Given the description of an element on the screen output the (x, y) to click on. 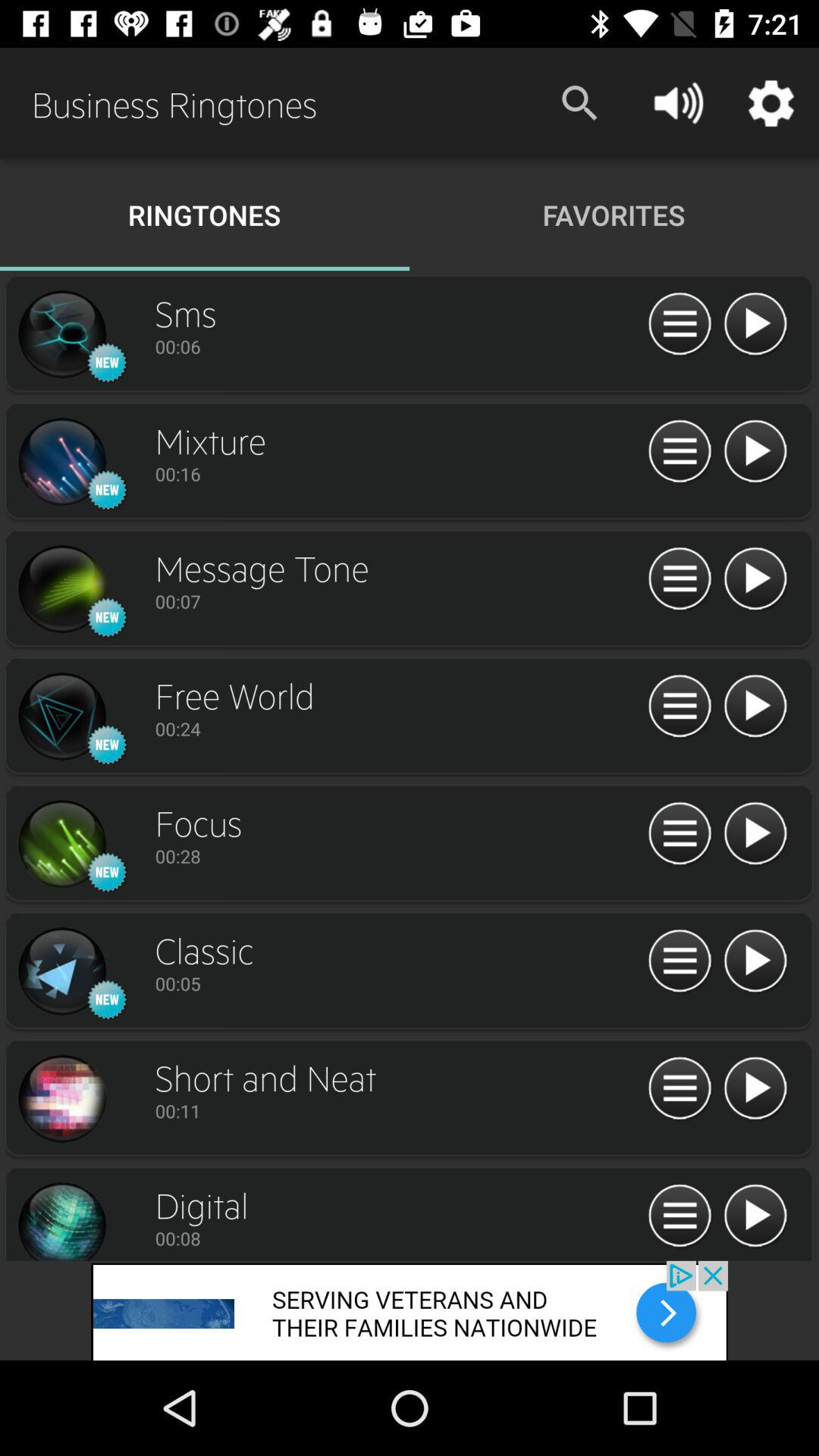
to view options (679, 451)
